Given the description of an element on the screen output the (x, y) to click on. 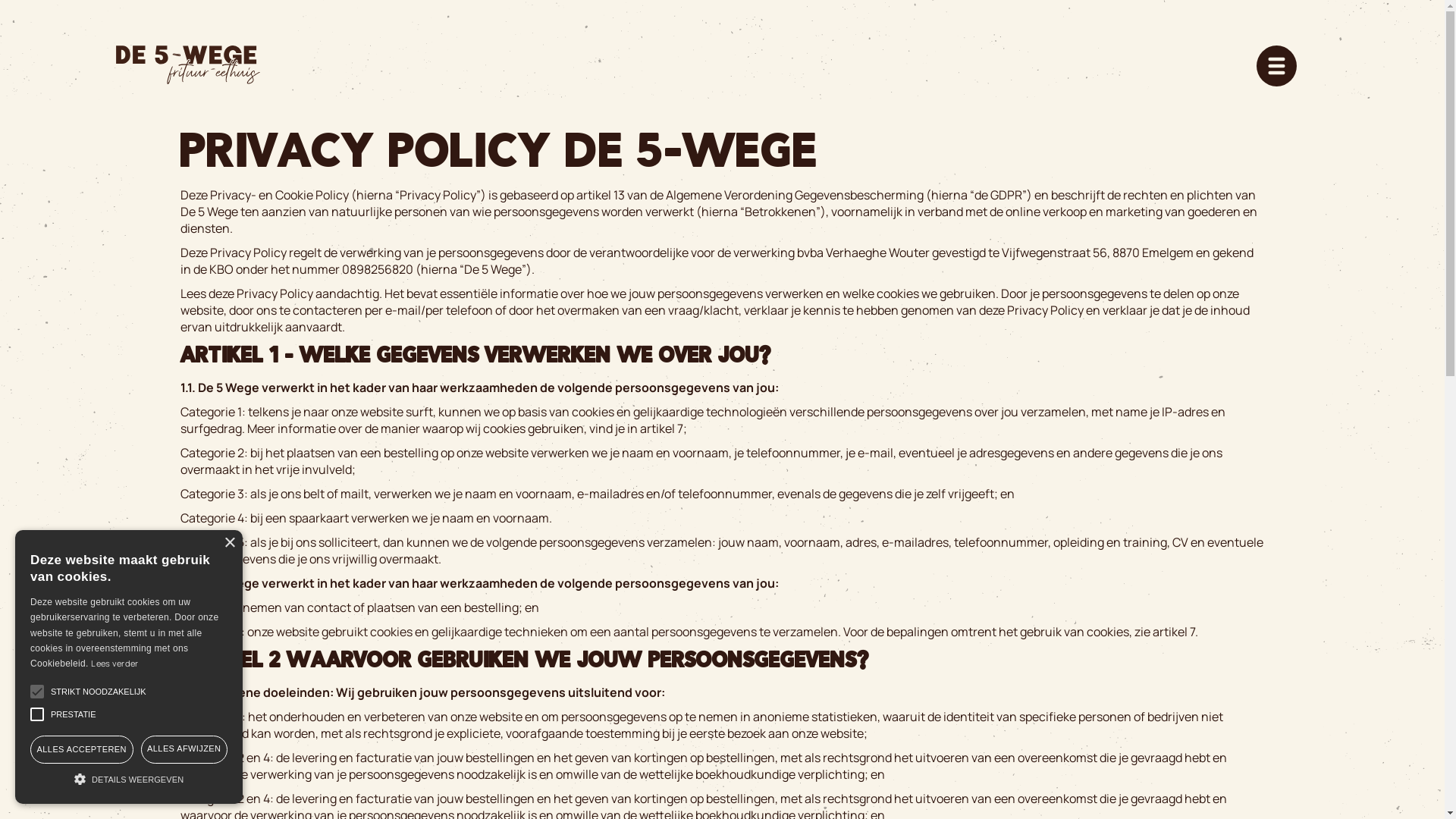
Lees verder Element type: text (114, 662)
